Given the description of an element on the screen output the (x, y) to click on. 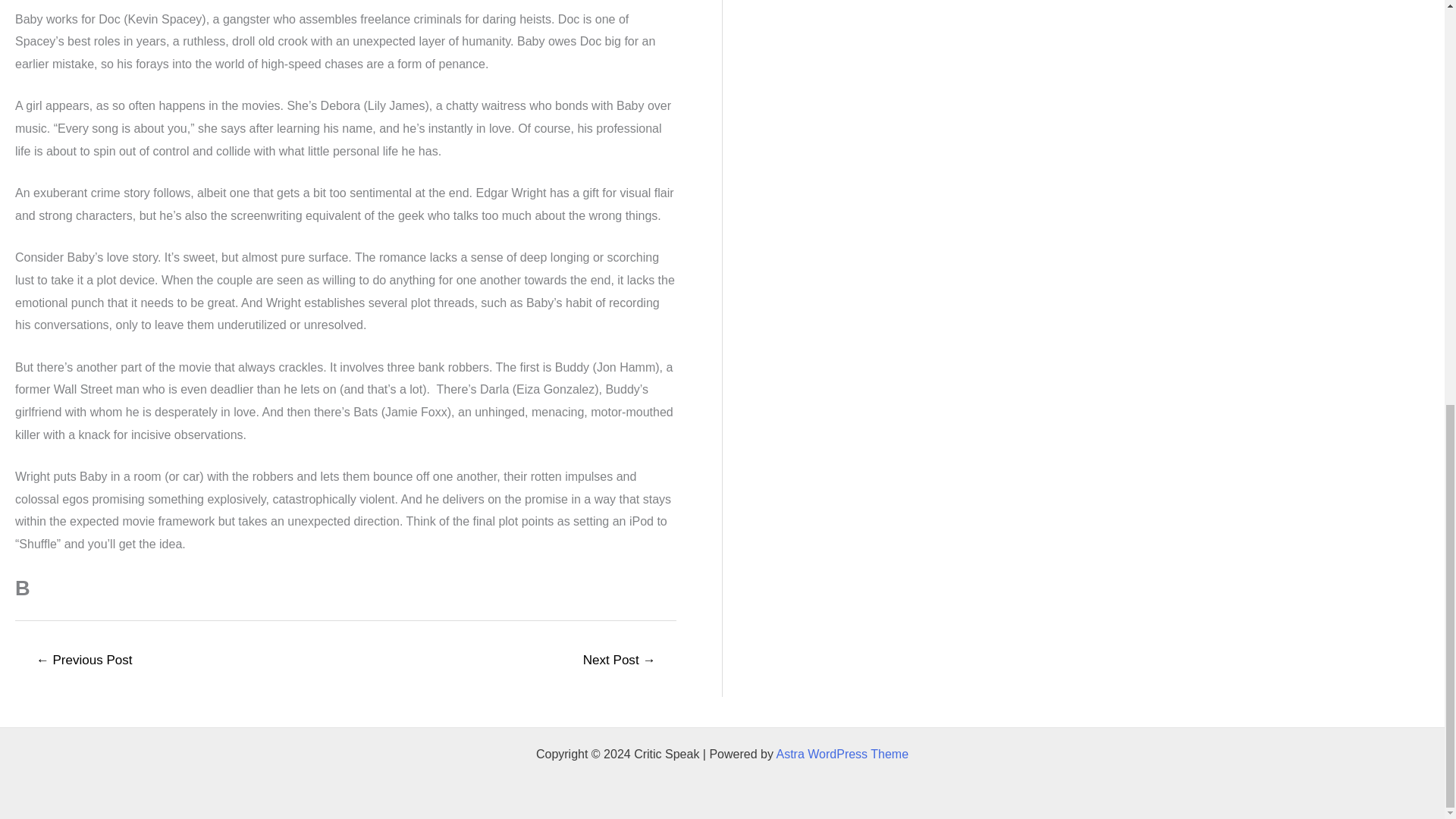
Introducing the 2017 Milwaukee Film Festival (619, 662)
Astra WordPress Theme (842, 753)
